Given the description of an element on the screen output the (x, y) to click on. 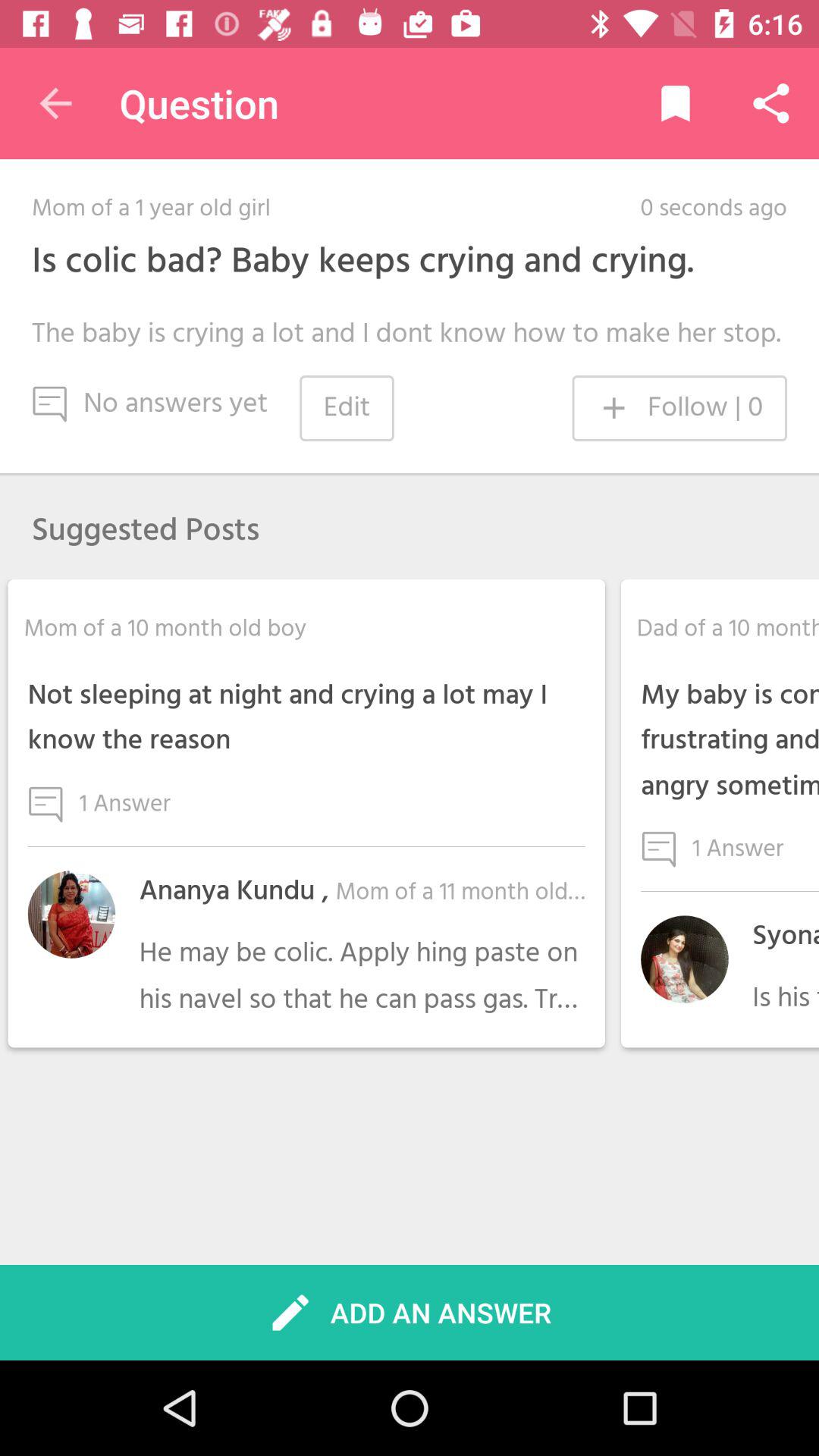
jump to the add an answer (408, 1312)
